Given the description of an element on the screen output the (x, y) to click on. 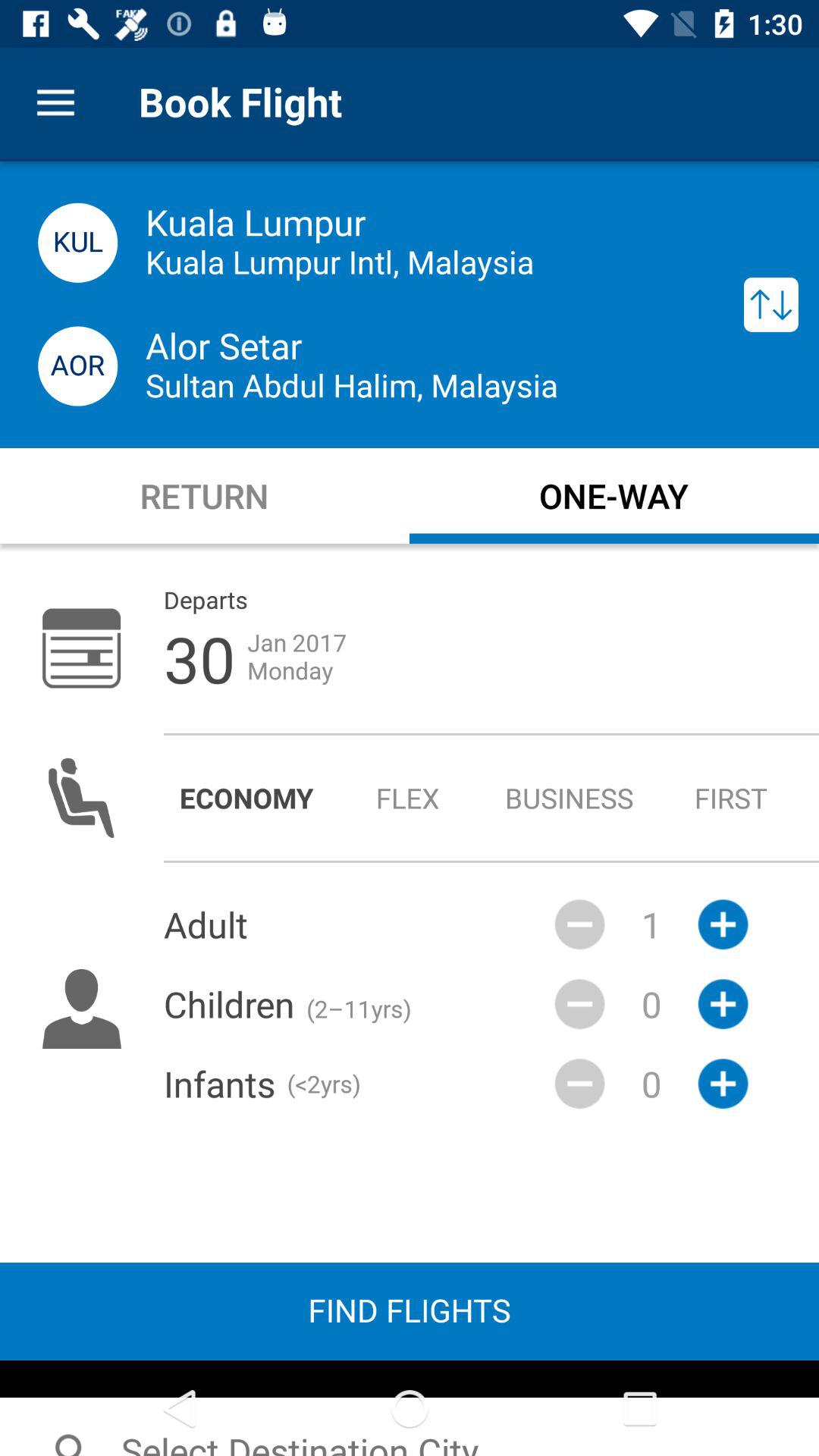
press radio button next to the business (731, 797)
